Given the description of an element on the screen output the (x, y) to click on. 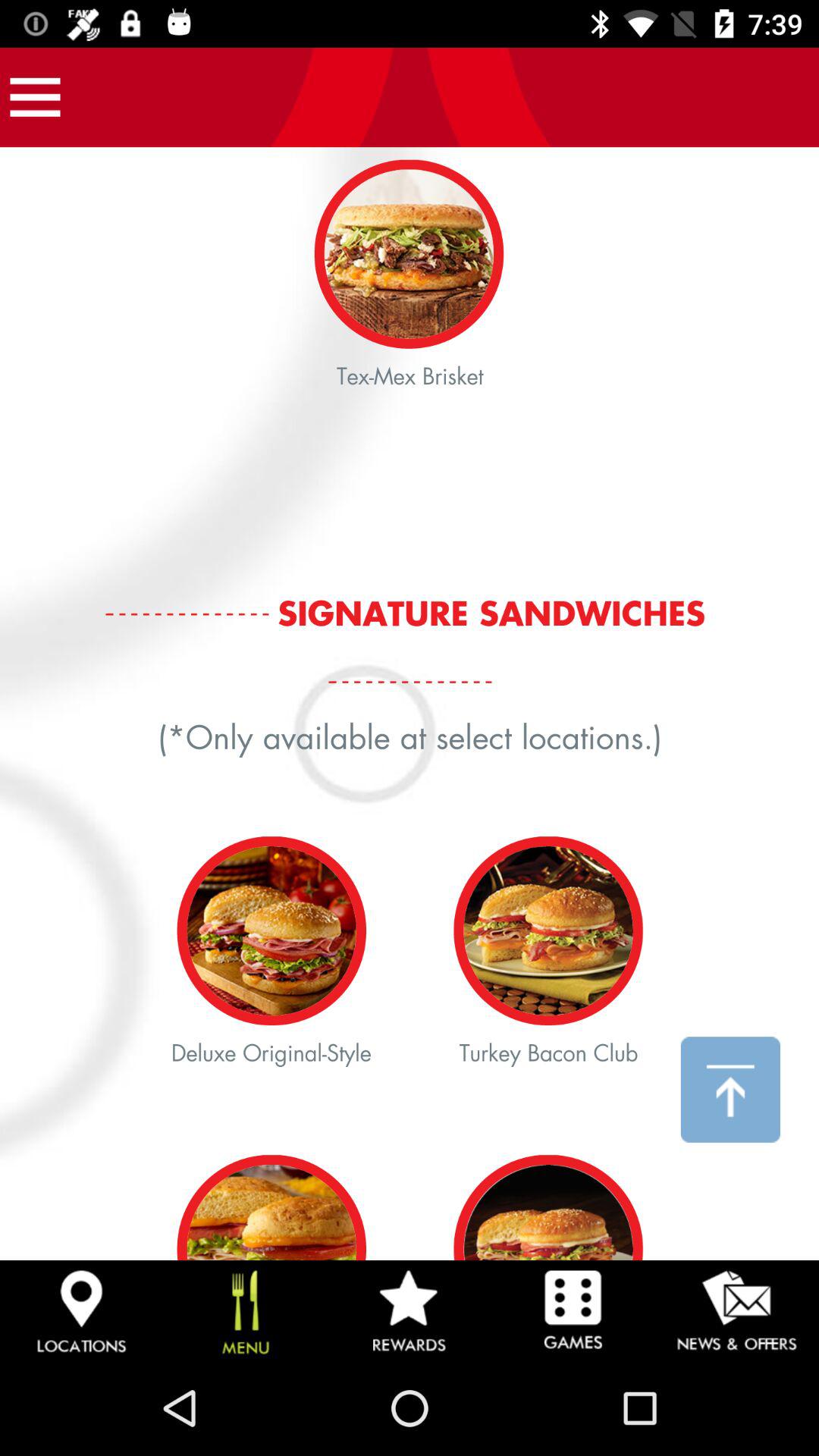
principal screen (409, 703)
